Given the description of an element on the screen output the (x, y) to click on. 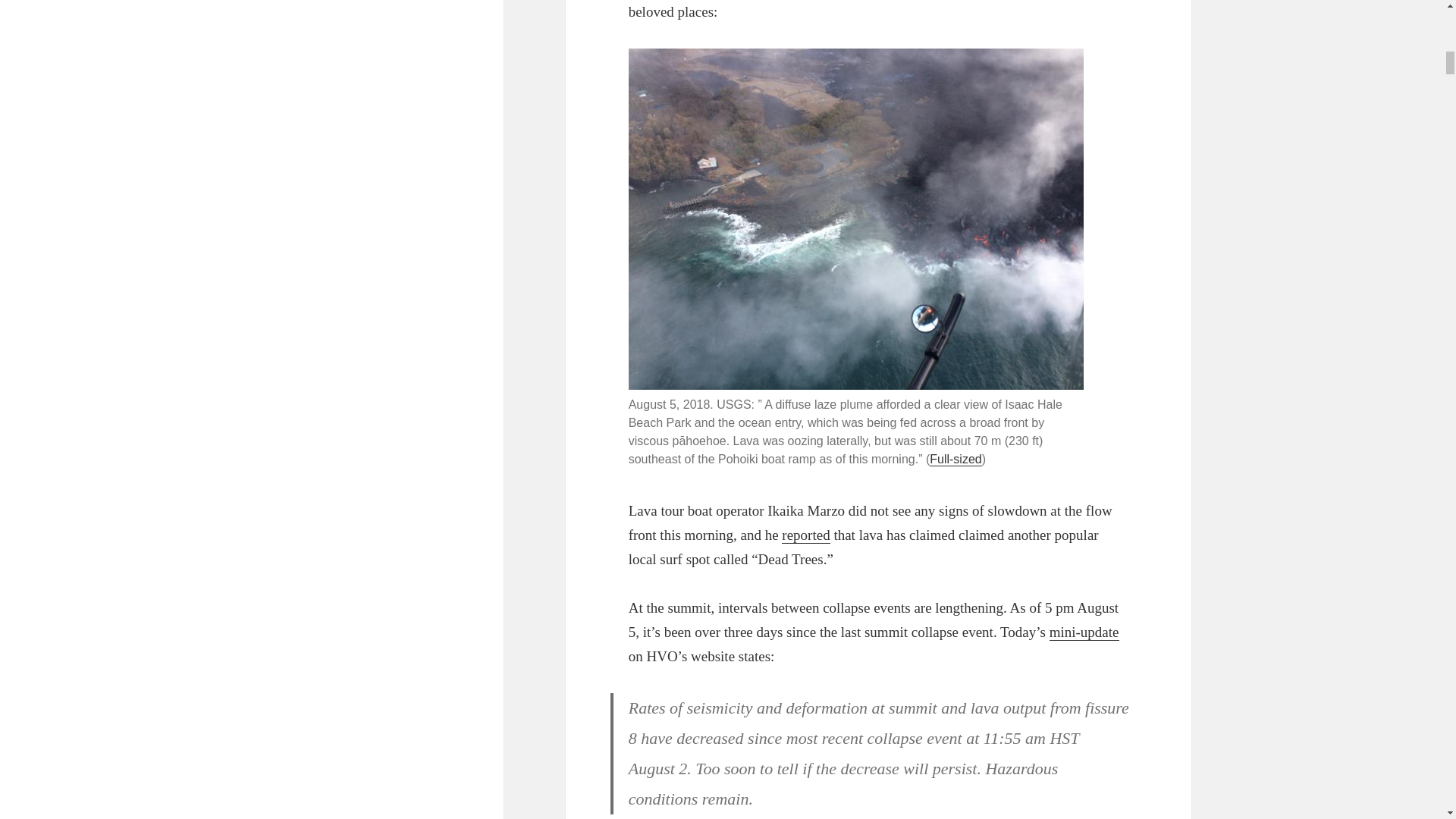
reported (805, 535)
Full-sized (955, 459)
mini-update (1084, 632)
